Given the description of an element on the screen output the (x, y) to click on. 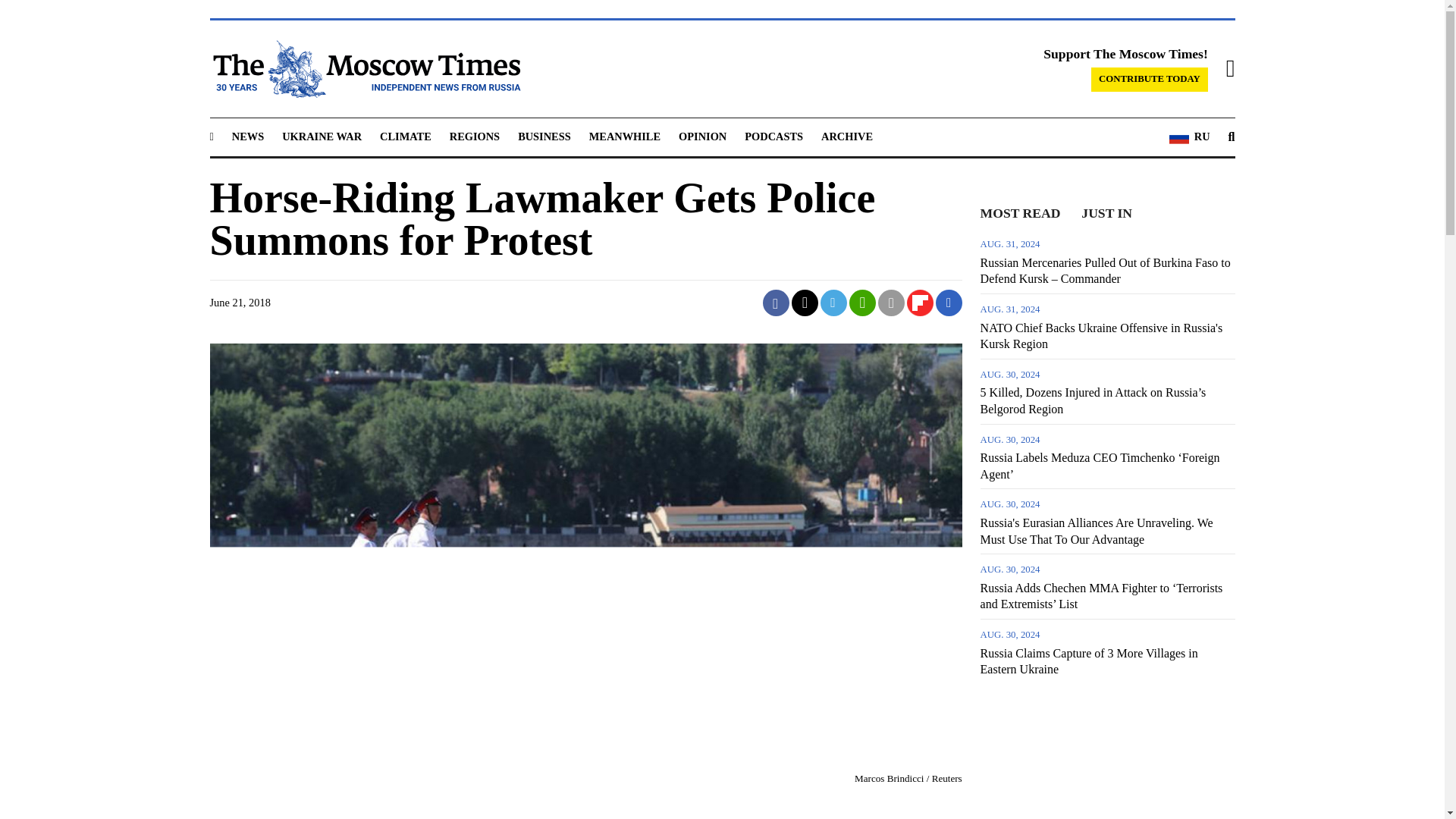
Share on Flipboard (920, 302)
MEANWHILE (625, 136)
CLIMATE (405, 136)
REGIONS (474, 136)
PODCASTS (773, 136)
OPINION (702, 136)
NEWS (247, 136)
Share on Facebook (775, 302)
ARCHIVE (846, 136)
UKRAINE WAR (321, 136)
